Given the description of an element on the screen output the (x, y) to click on. 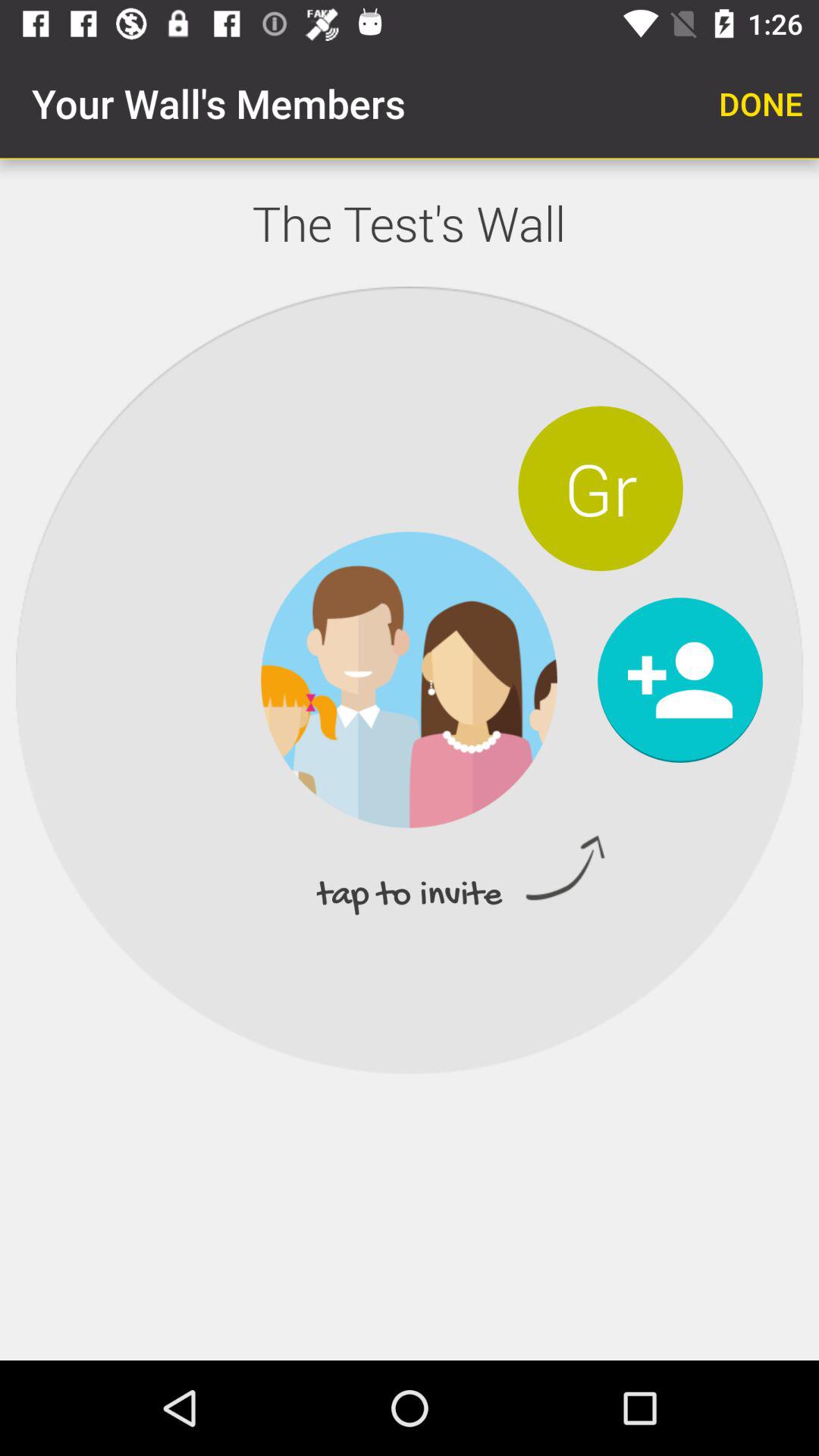
choose done item (760, 103)
